Given the description of an element on the screen output the (x, y) to click on. 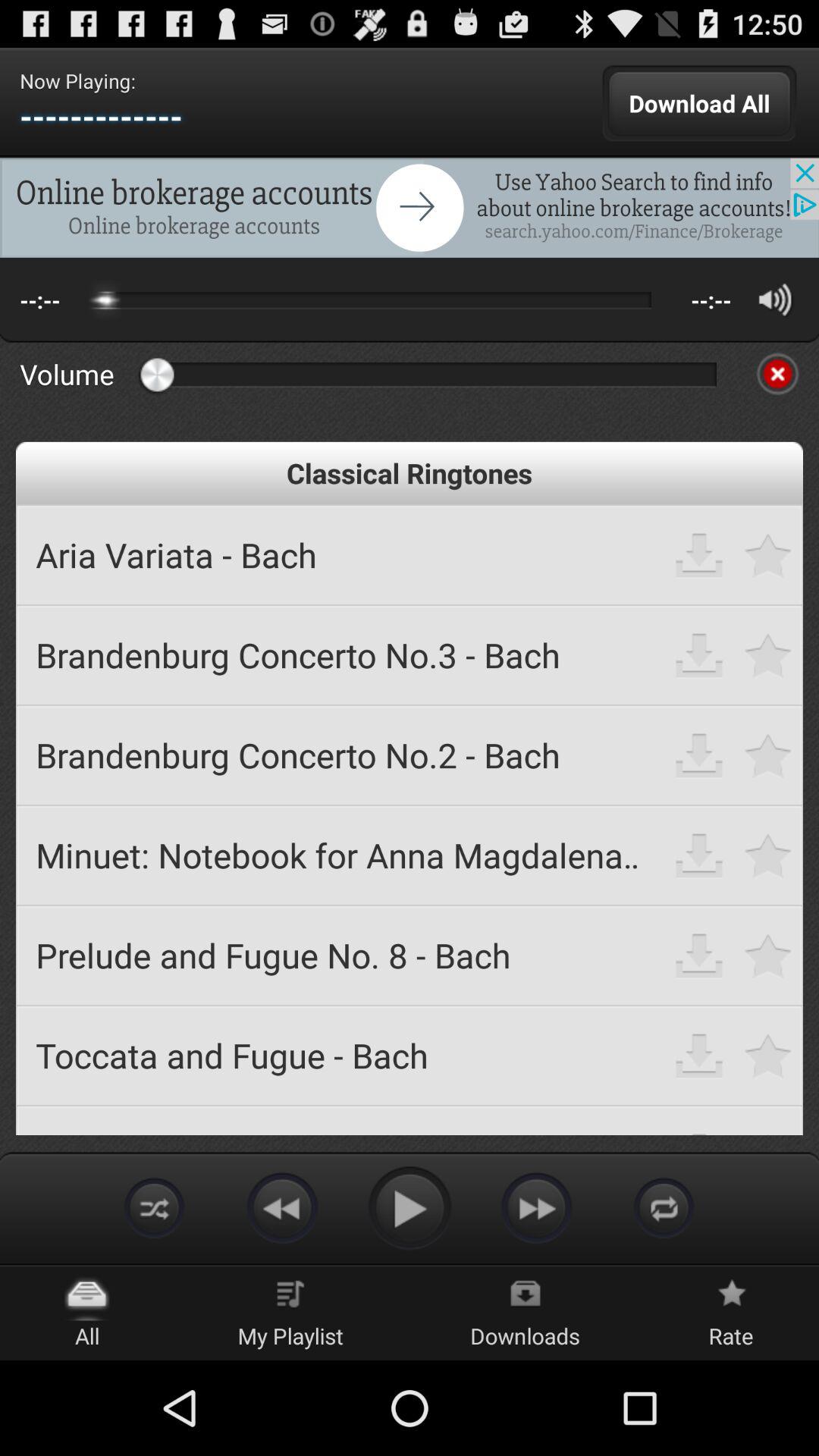
download (699, 554)
